Given the description of an element on the screen output the (x, y) to click on. 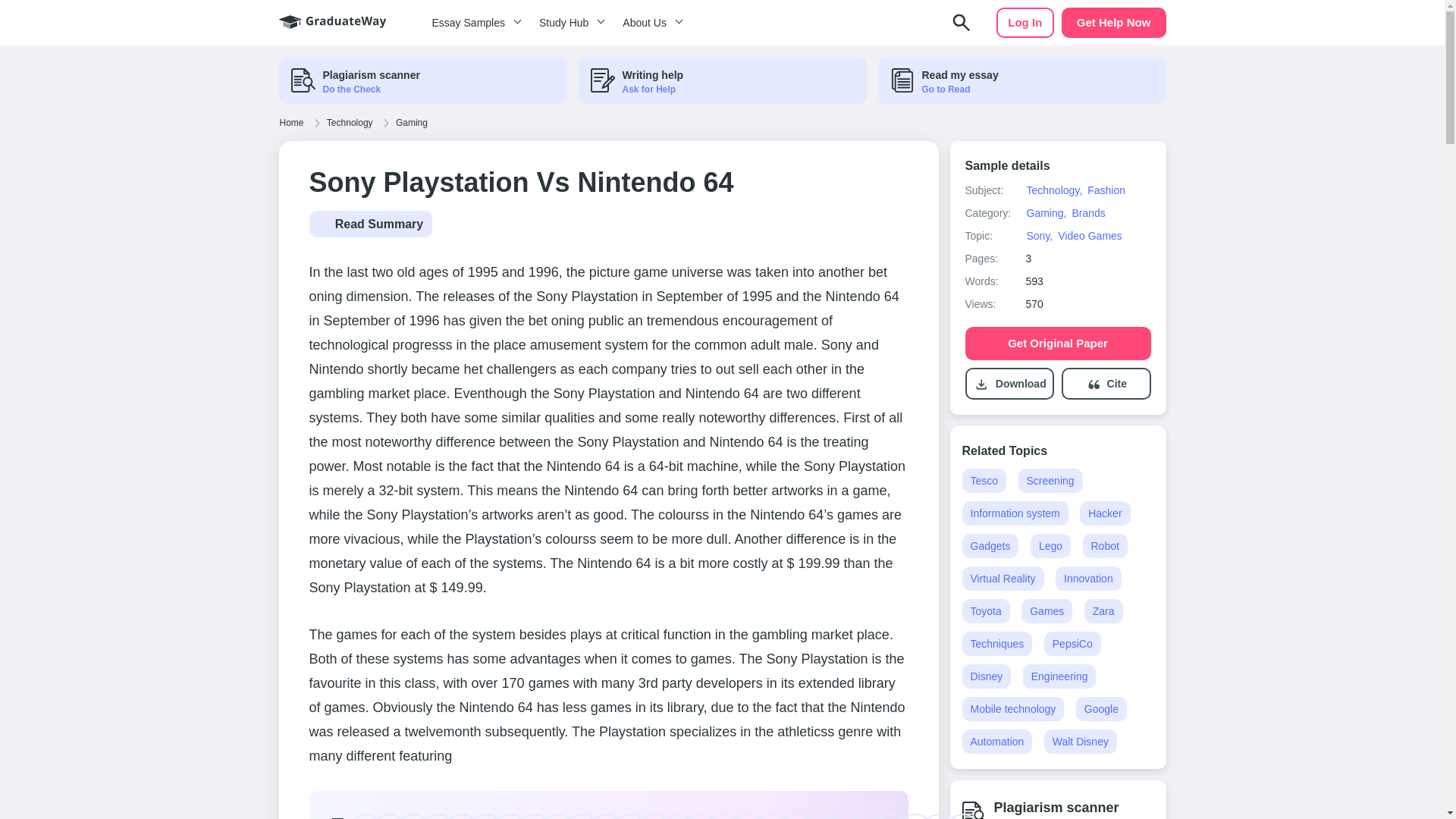
Cite (1116, 383)
Gaming, (1046, 213)
Gaming (411, 122)
Technology (350, 122)
Essay Samples (473, 22)
About Us (649, 22)
Study Hub (569, 22)
Technology, (1054, 190)
Fashion (1105, 190)
Home (291, 122)
